Given the description of an element on the screen output the (x, y) to click on. 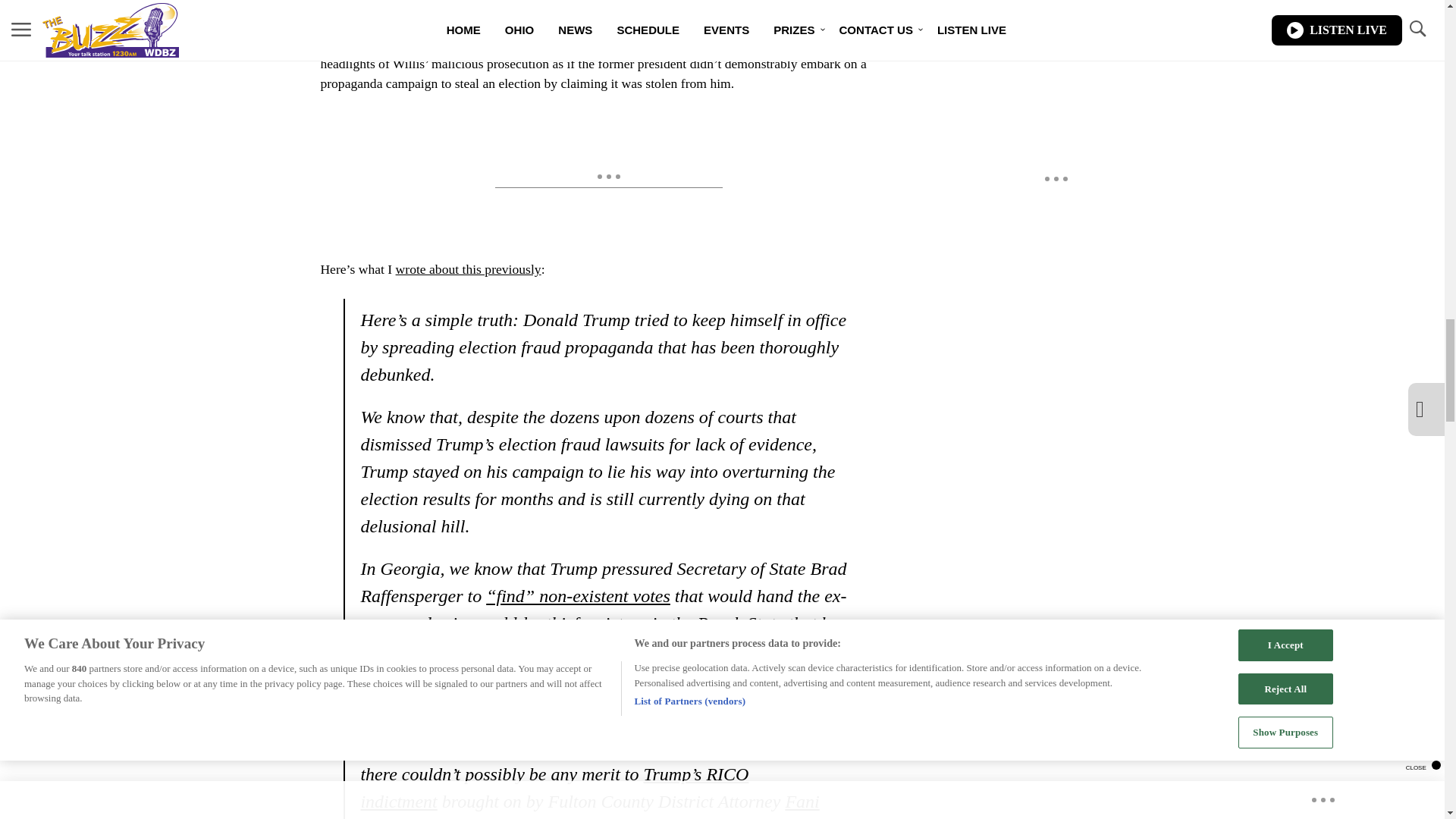
caught taking a selfie with (585, 23)
wrote about this previously (468, 268)
